Given the description of an element on the screen output the (x, y) to click on. 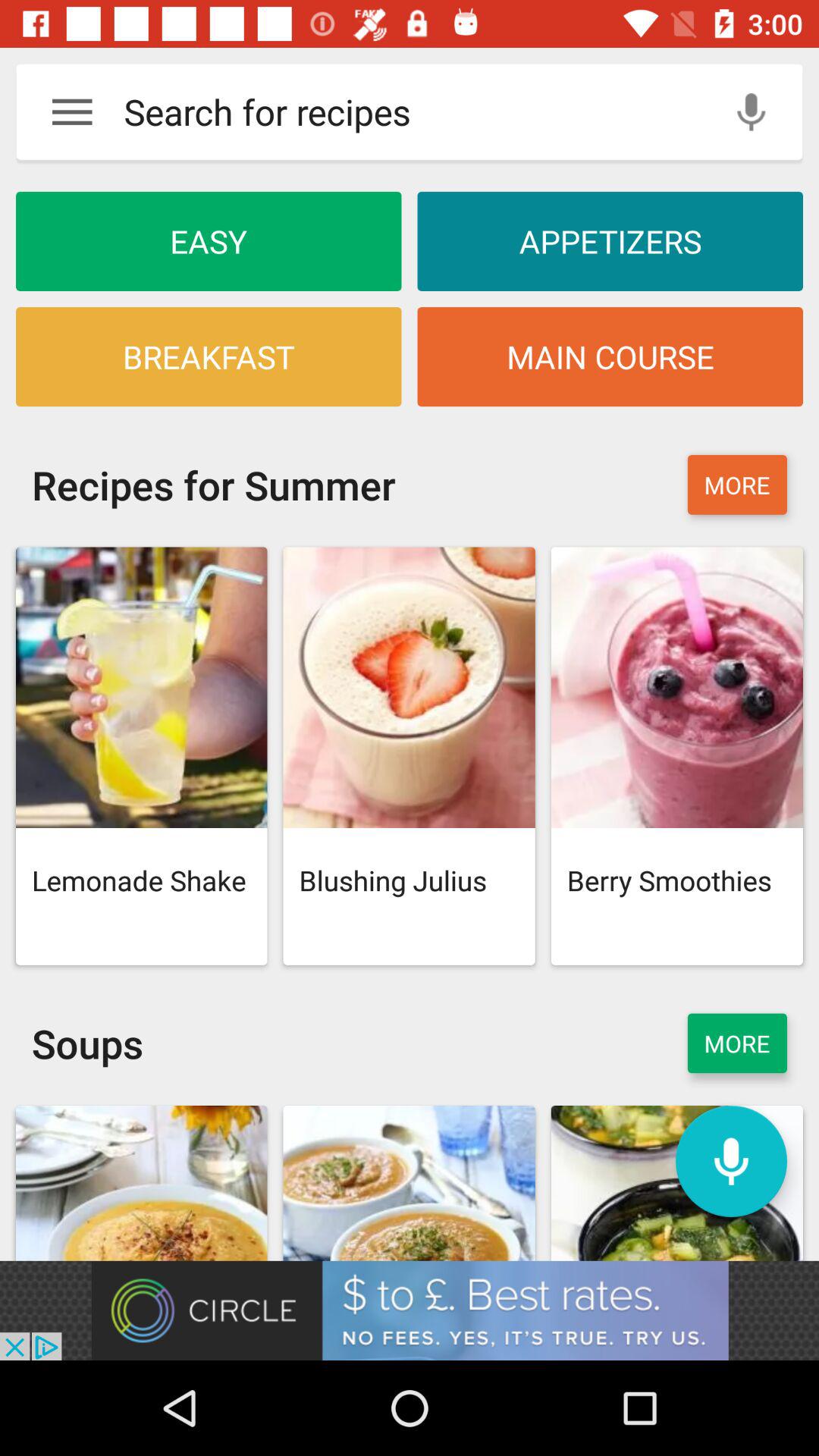
use microphone (751, 111)
